Given the description of an element on the screen output the (x, y) to click on. 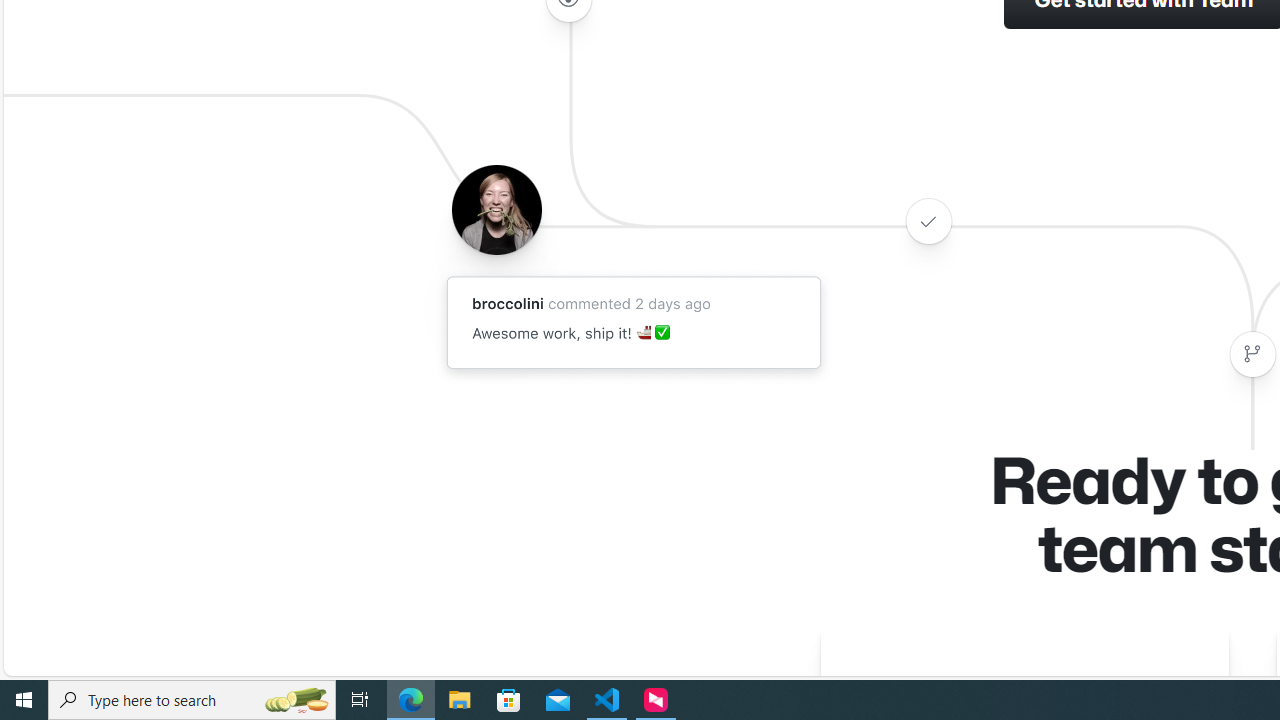
Class: color-fg-muted width-full (1252, 354)
Avatar of the user broccolini (495, 209)
